Given the description of an element on the screen output the (x, y) to click on. 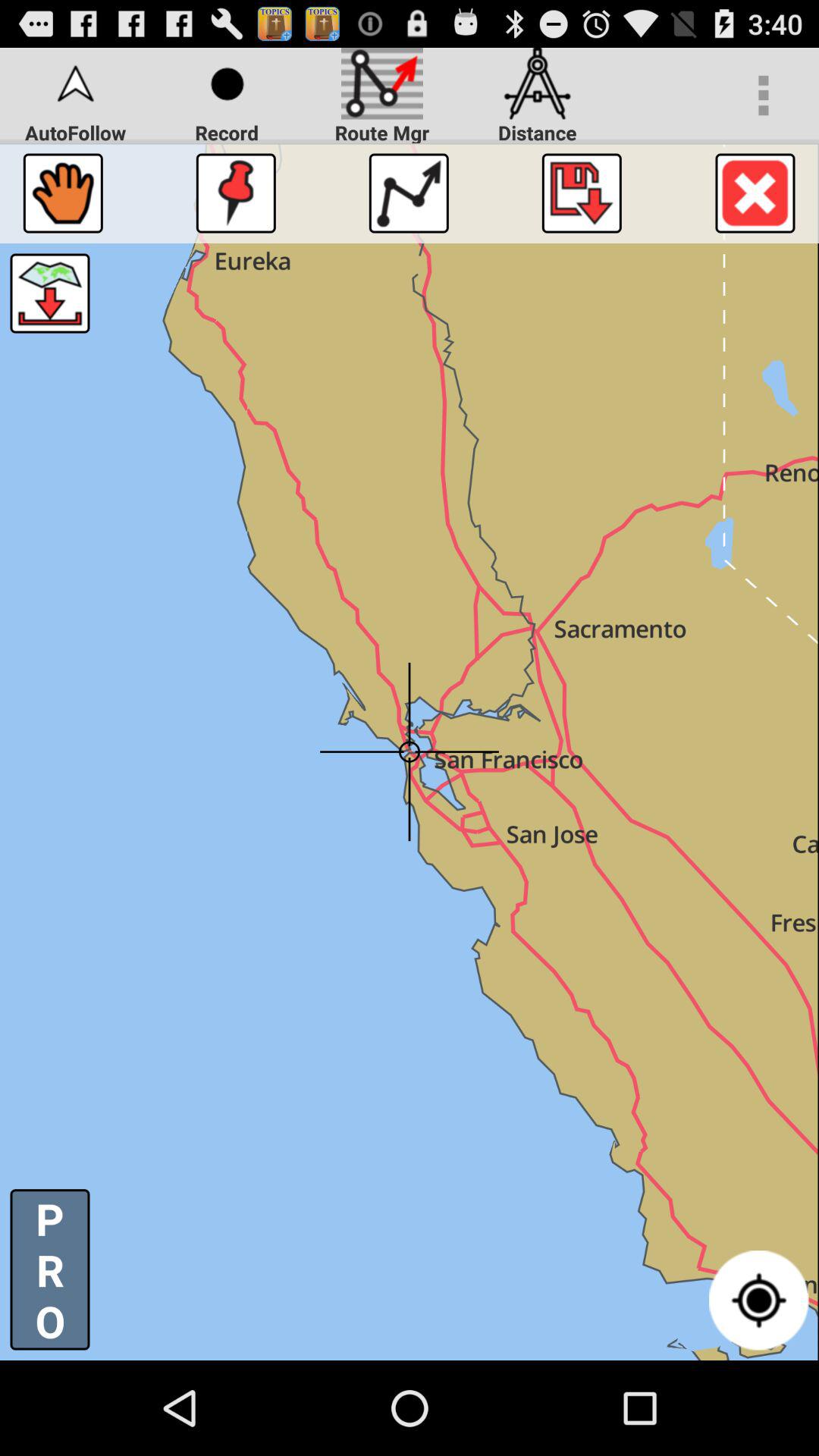
cancel button (755, 193)
